Given the description of an element on the screen output the (x, y) to click on. 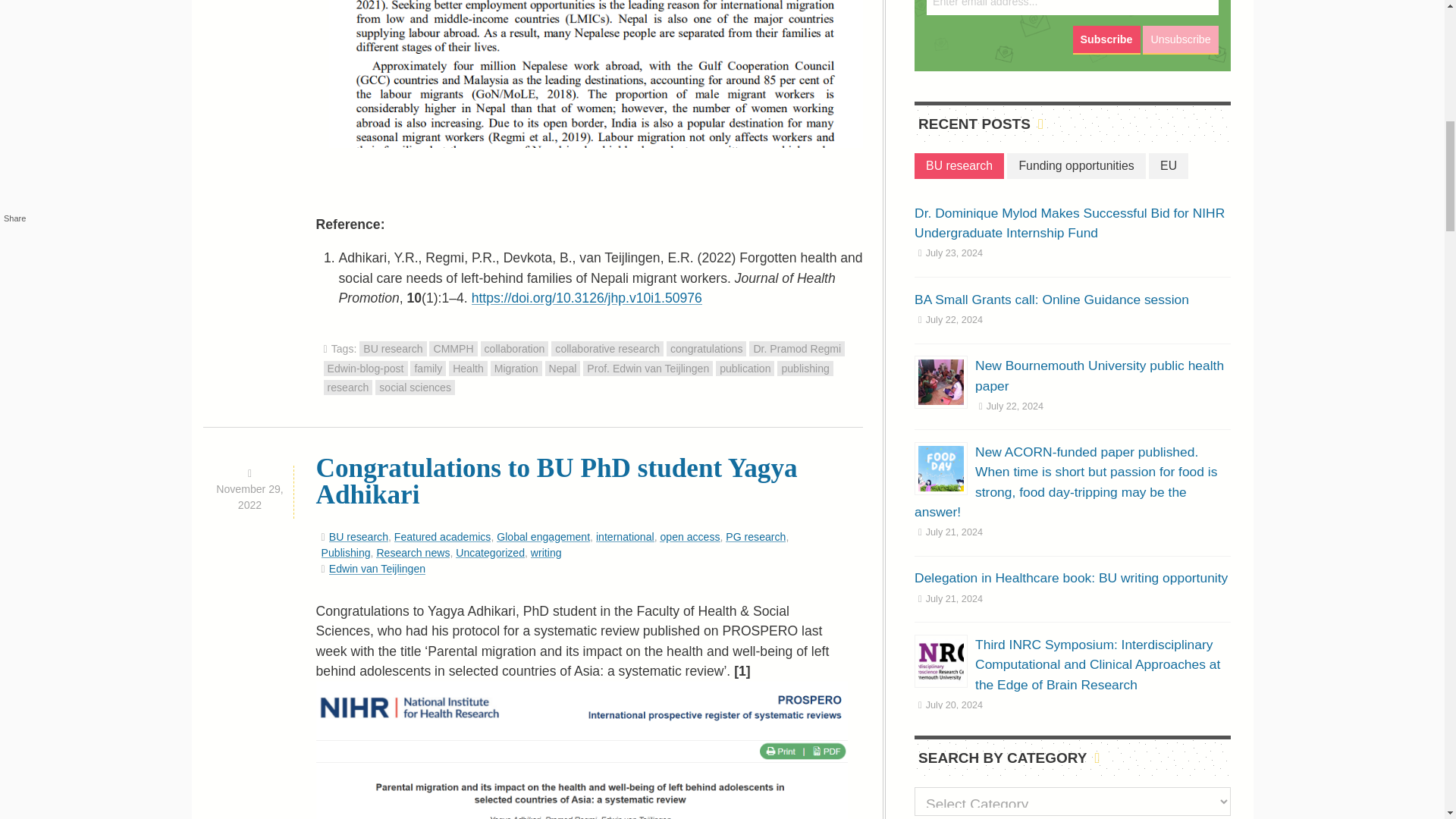
Enter email address... (1072, 7)
Subscribe (1106, 39)
Unsubscribe (1179, 39)
Posts by Edwin van Teijlingen (377, 568)
Congratulations to BU PhD student Yagya Adhikari (556, 481)
